Given the description of an element on the screen output the (x, y) to click on. 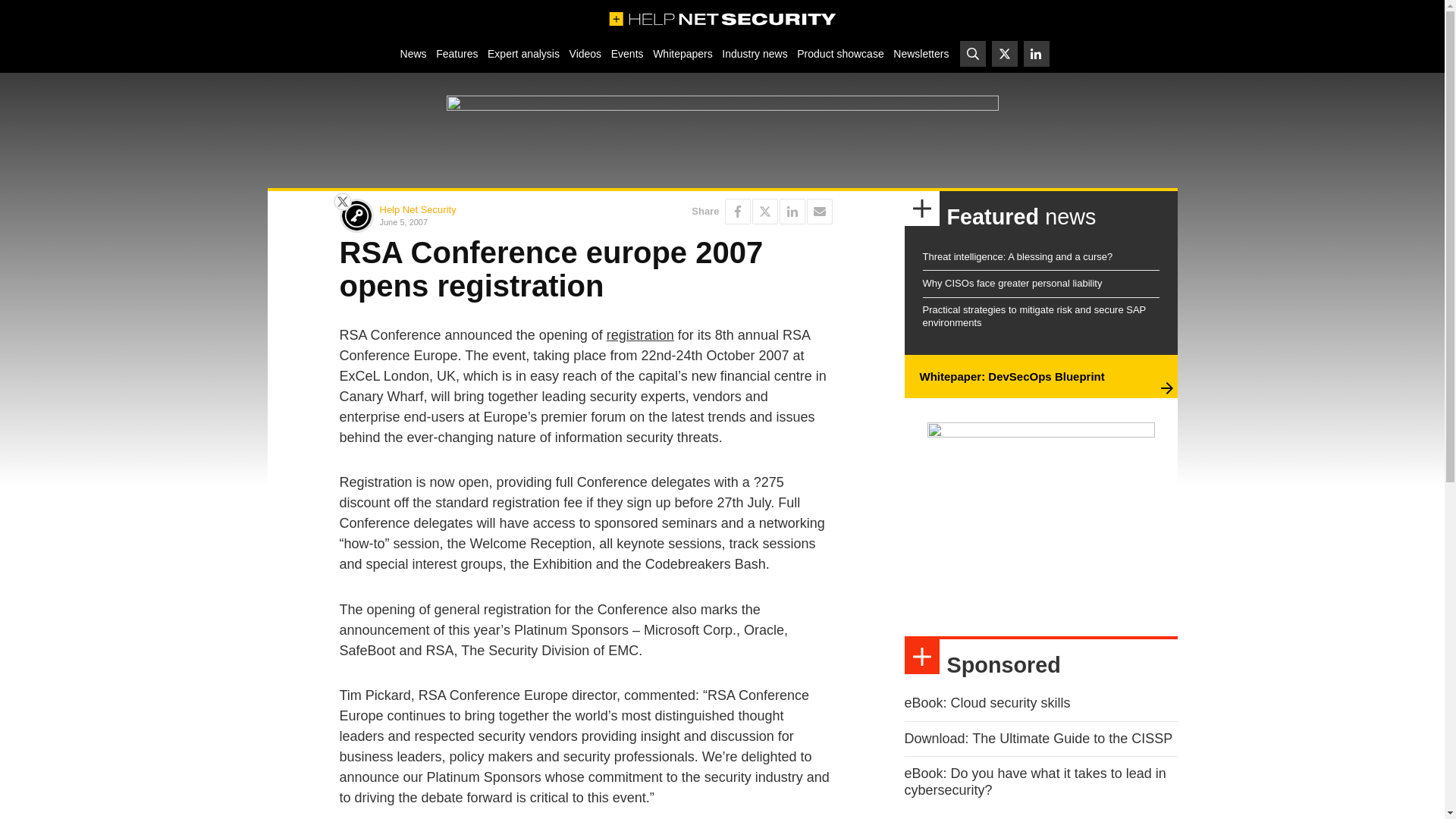
Threat intelligence: A blessing and a curse? (1016, 256)
Features (456, 53)
Download: The Ultimate Guide to the CISSP (1038, 738)
Events (626, 53)
Why CISOs face greater personal liability (1011, 283)
Product showcase (840, 53)
Whitepaper: DevSecOps Blueprint (1010, 376)
Threat intelligence: A blessing and a curse? (1016, 256)
eBook: Cloud security skills (987, 702)
